Given the description of an element on the screen output the (x, y) to click on. 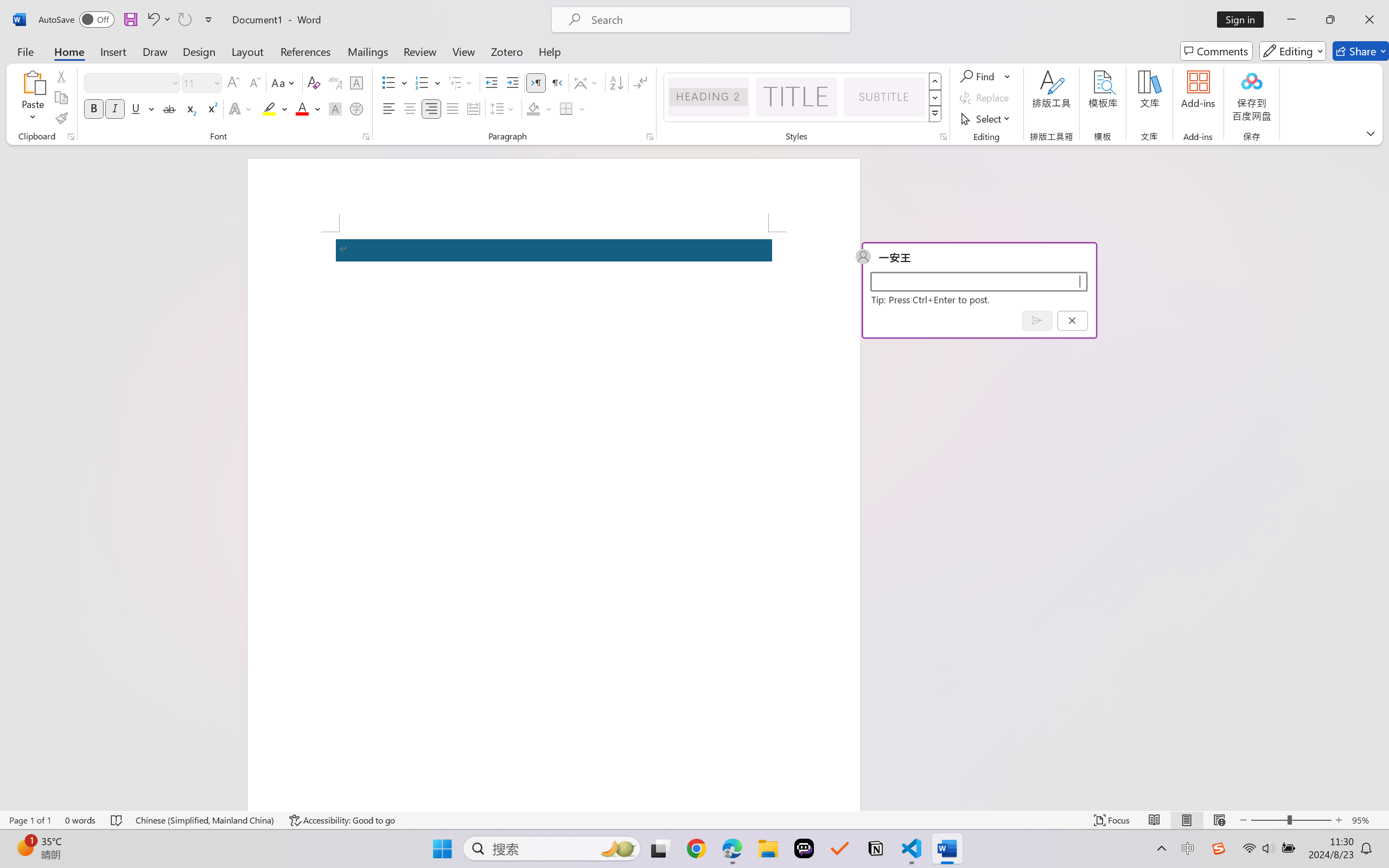
Language Chinese (Simplified, Mainland China) (205, 819)
